Given the description of an element on the screen output the (x, y) to click on. 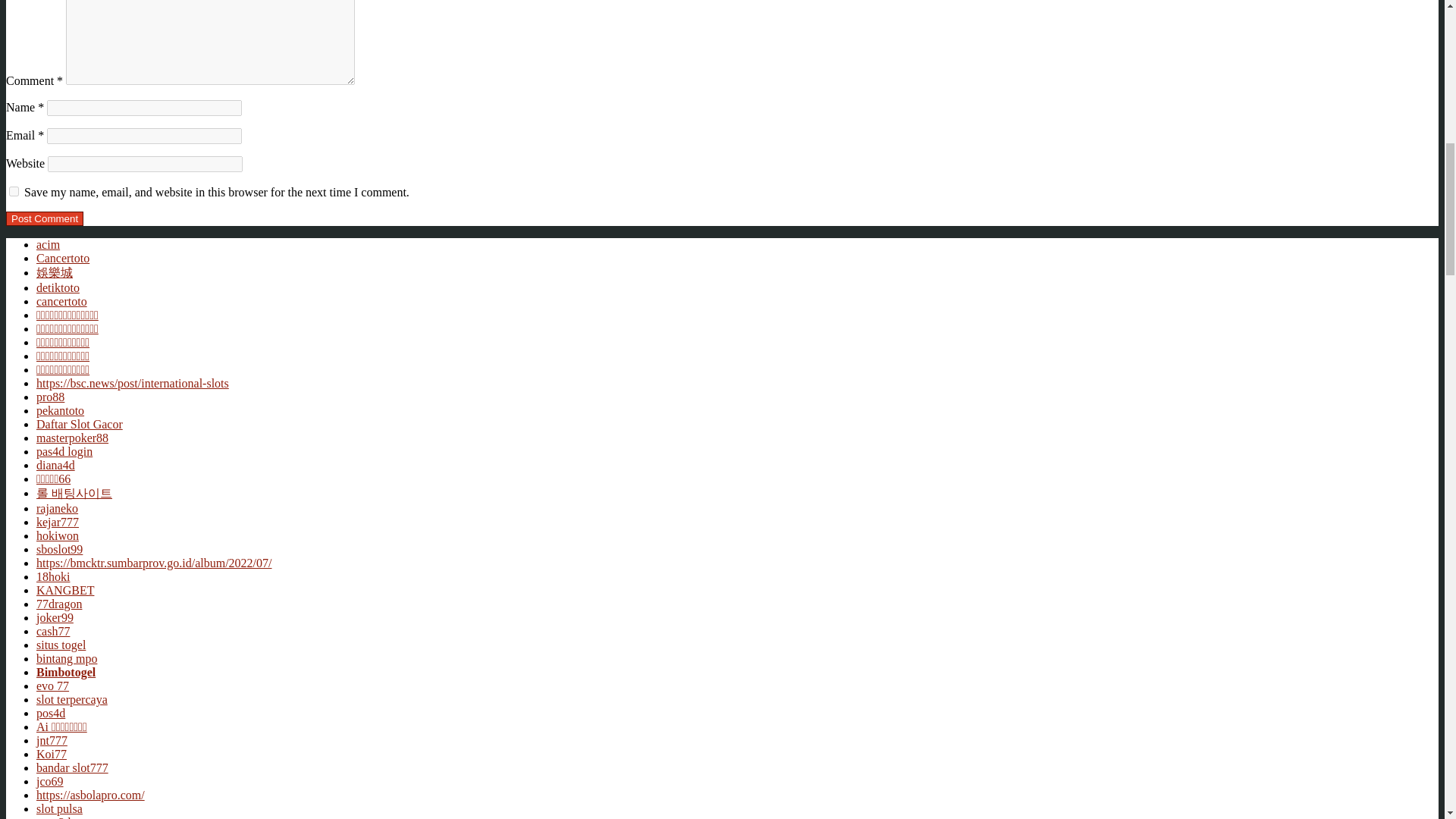
sboslot99 (59, 549)
yes (13, 191)
hokiwon (57, 535)
rajaneko (57, 508)
kejar777 (57, 521)
cancertoto (61, 300)
Cancertoto (62, 257)
acim (47, 244)
pas4d login (64, 451)
detiktoto (58, 287)
18hoki (52, 576)
pro88 (50, 396)
diana4d (55, 464)
Post Comment (43, 218)
Daftar Slot Gacor (79, 423)
